Given the description of an element on the screen output the (x, y) to click on. 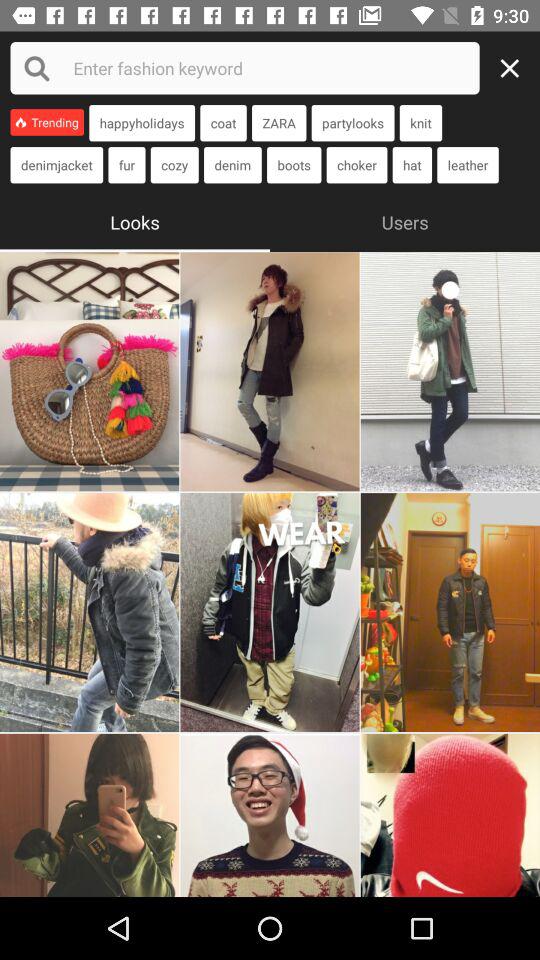
restart your search (515, 68)
